Given the description of an element on the screen output the (x, y) to click on. 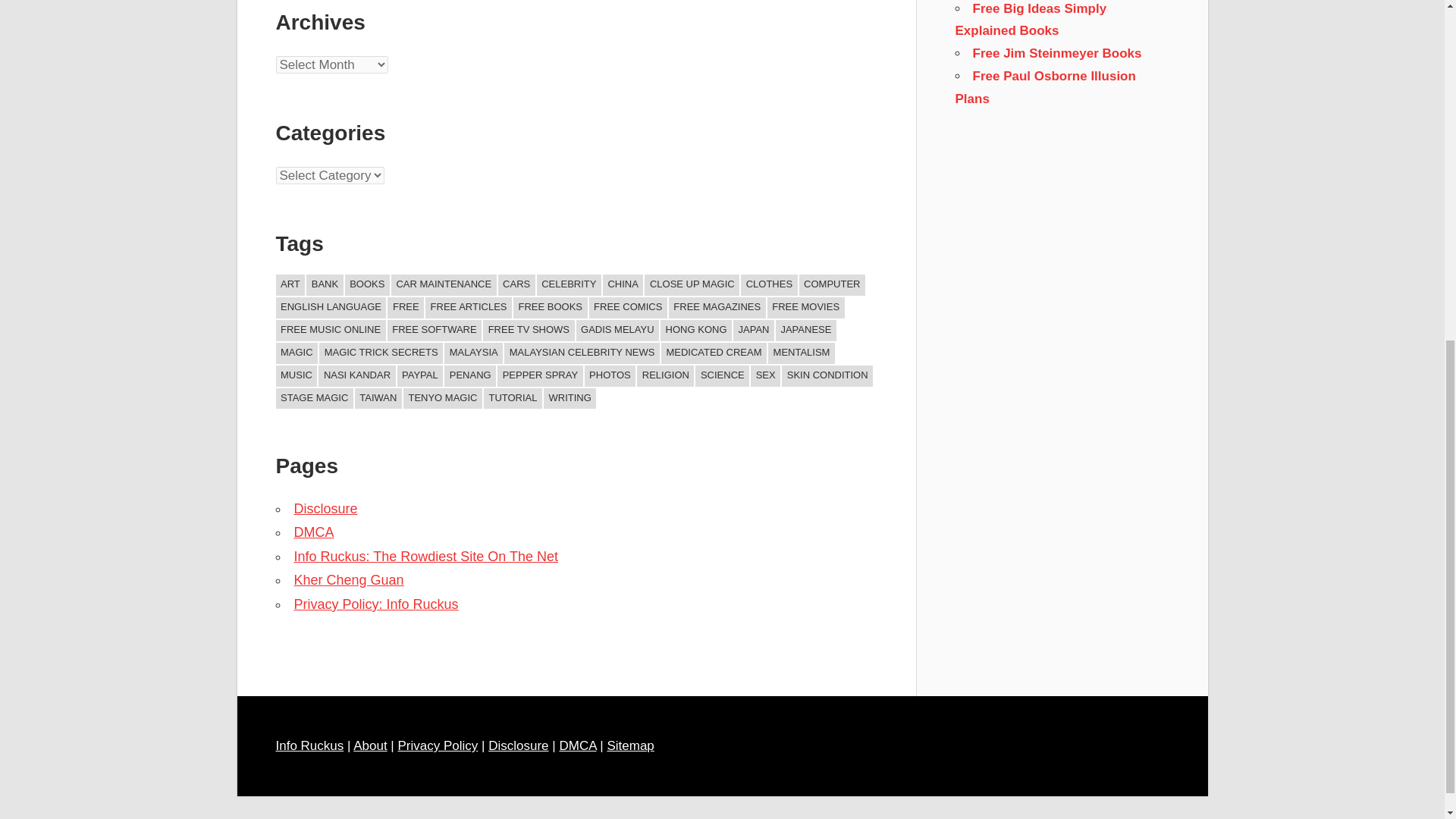
CLOSE UP MAGIC (692, 284)
FREE COMICS (627, 307)
FREE ARTICLES (468, 307)
CHINA (622, 284)
CELEBRITY (569, 284)
MAGIC (297, 353)
JAPANESE (805, 330)
JAPAN (753, 330)
FREE MAGAZINES (716, 307)
CLOTHES (768, 284)
